Given the description of an element on the screen output the (x, y) to click on. 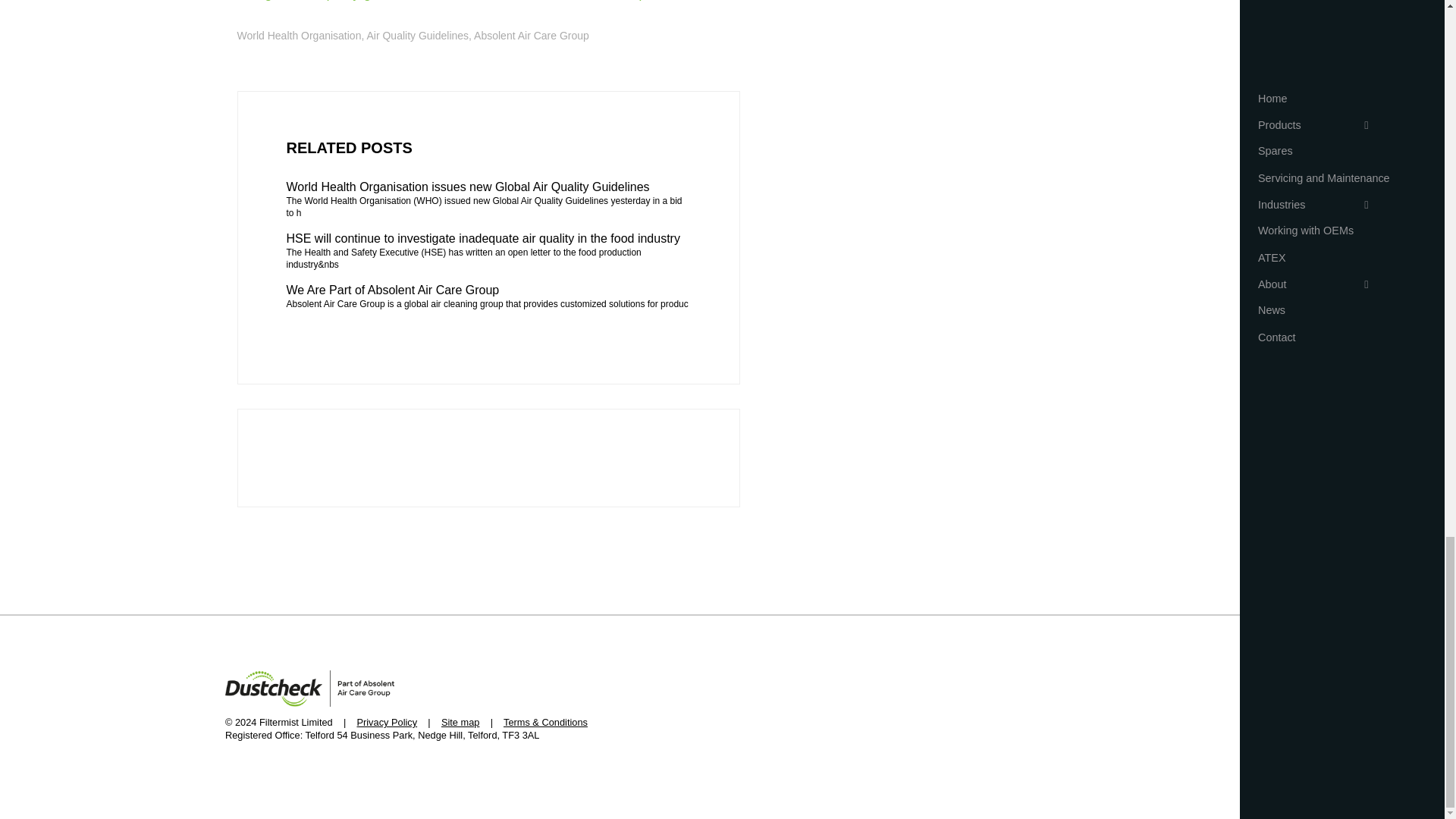
Absolent Air Care Group (531, 35)
We Are Part of Absolent Air Care Group (488, 290)
World Health Organisation (298, 35)
Air Quality Guidelines (417, 35)
